Given the description of an element on the screen output the (x, y) to click on. 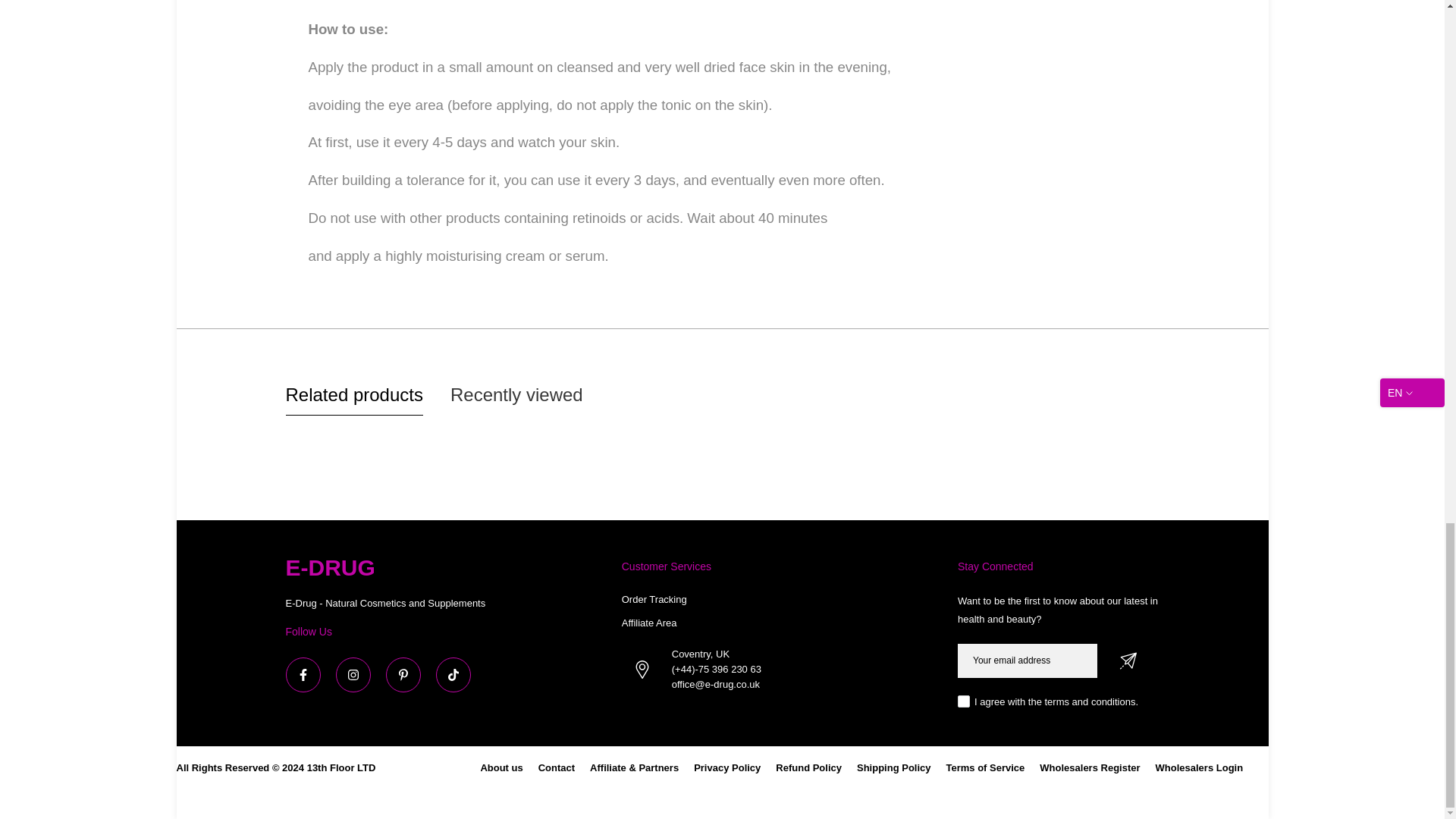
Follow on Facebook (302, 674)
Follow on Pinterest (402, 674)
Follow on Instagram (351, 674)
Follow on Tiktok (452, 674)
